Given the description of an element on the screen output the (x, y) to click on. 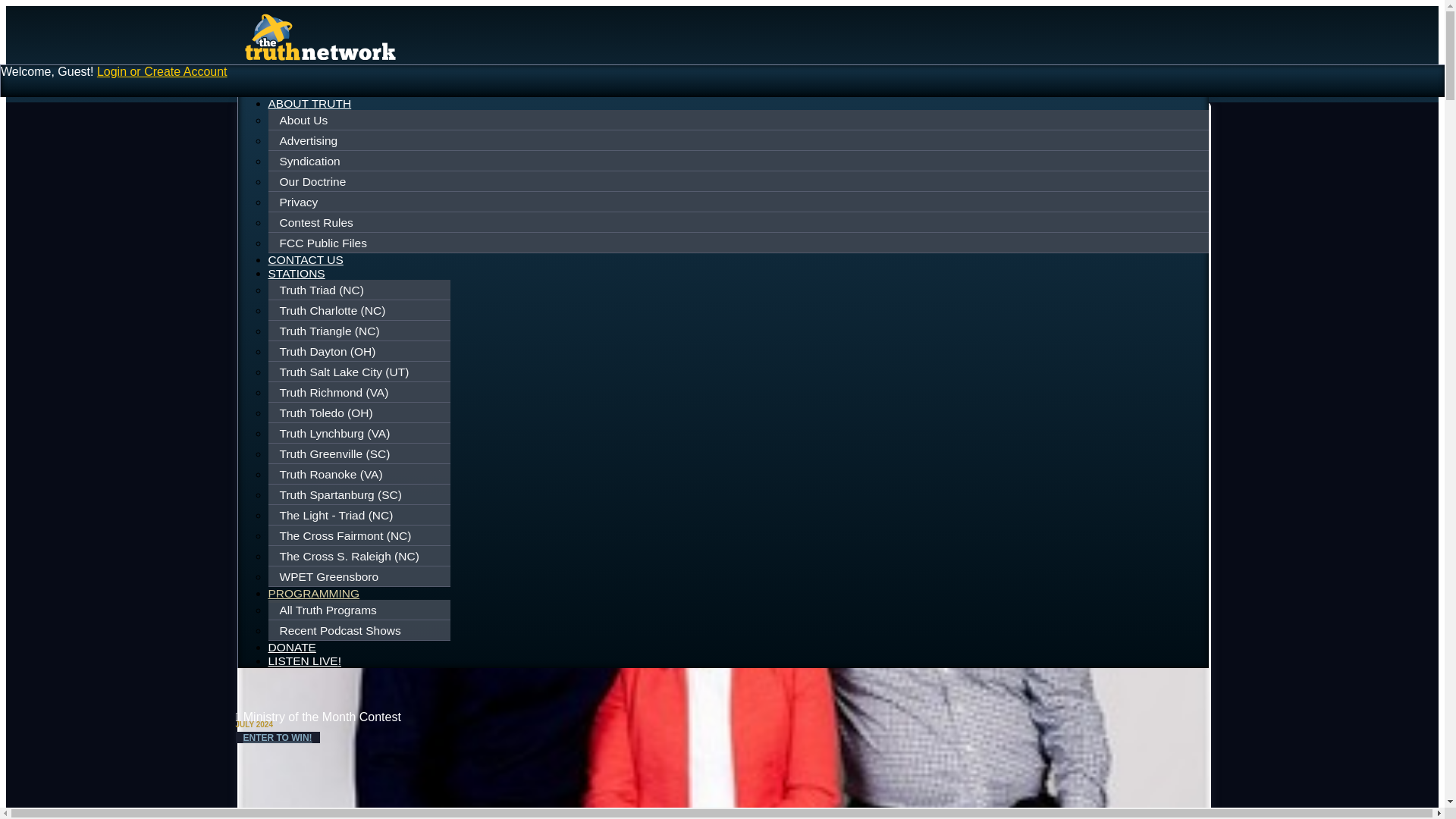
Advertising (739, 140)
Syndication (739, 161)
FCC Public Files (739, 243)
PROGRAMMING (313, 594)
Privacy (739, 202)
Contest Rules (739, 222)
Our Doctrine (739, 181)
STATIONS (295, 273)
About Us (739, 120)
WPET Greensboro (360, 576)
CONTACT US (305, 259)
HOME (285, 89)
ABOUT TRUTH (309, 103)
